Given the description of an element on the screen output the (x, y) to click on. 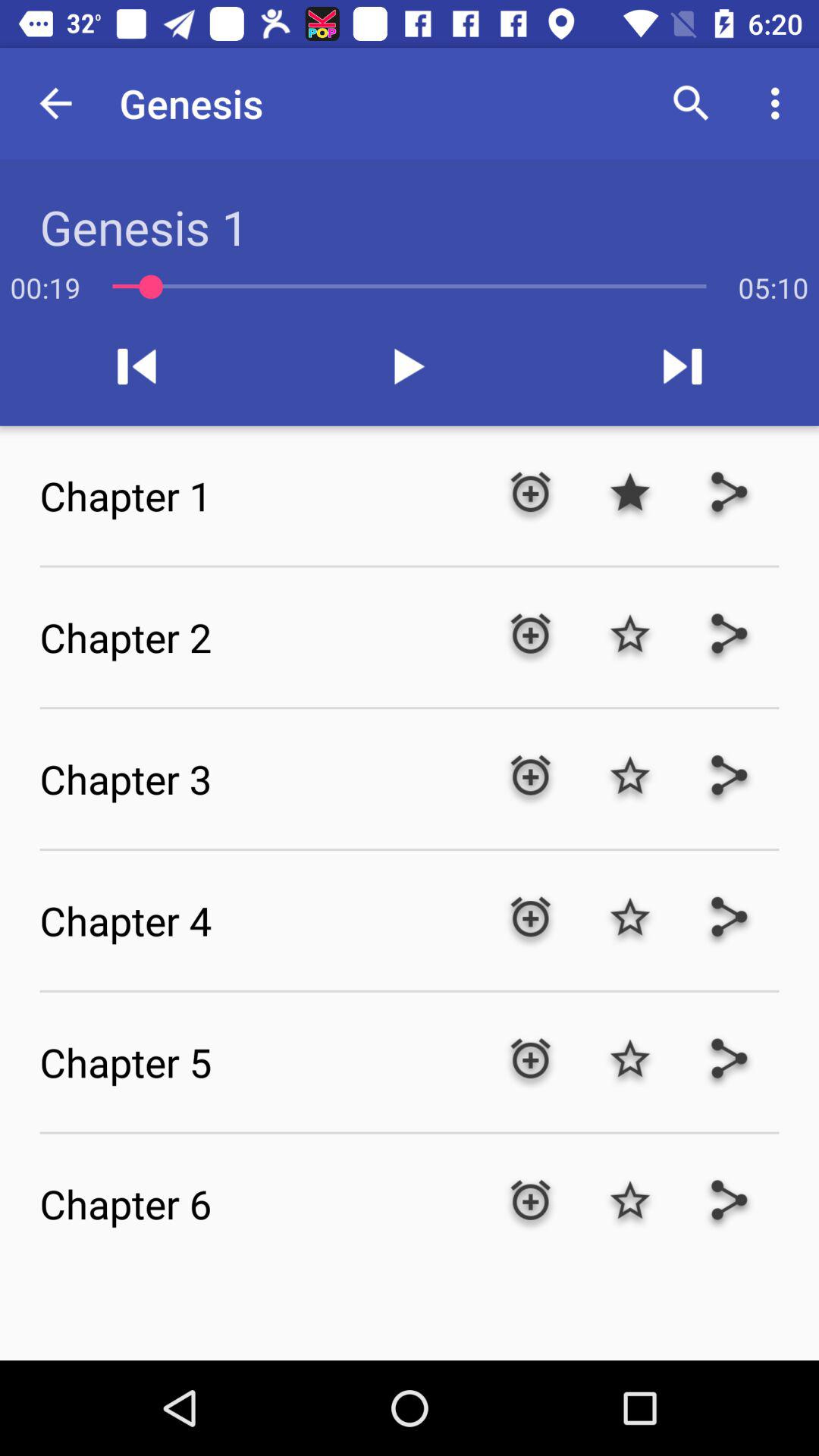
swipe to chapter 6 item (259, 1203)
